Given the description of an element on the screen output the (x, y) to click on. 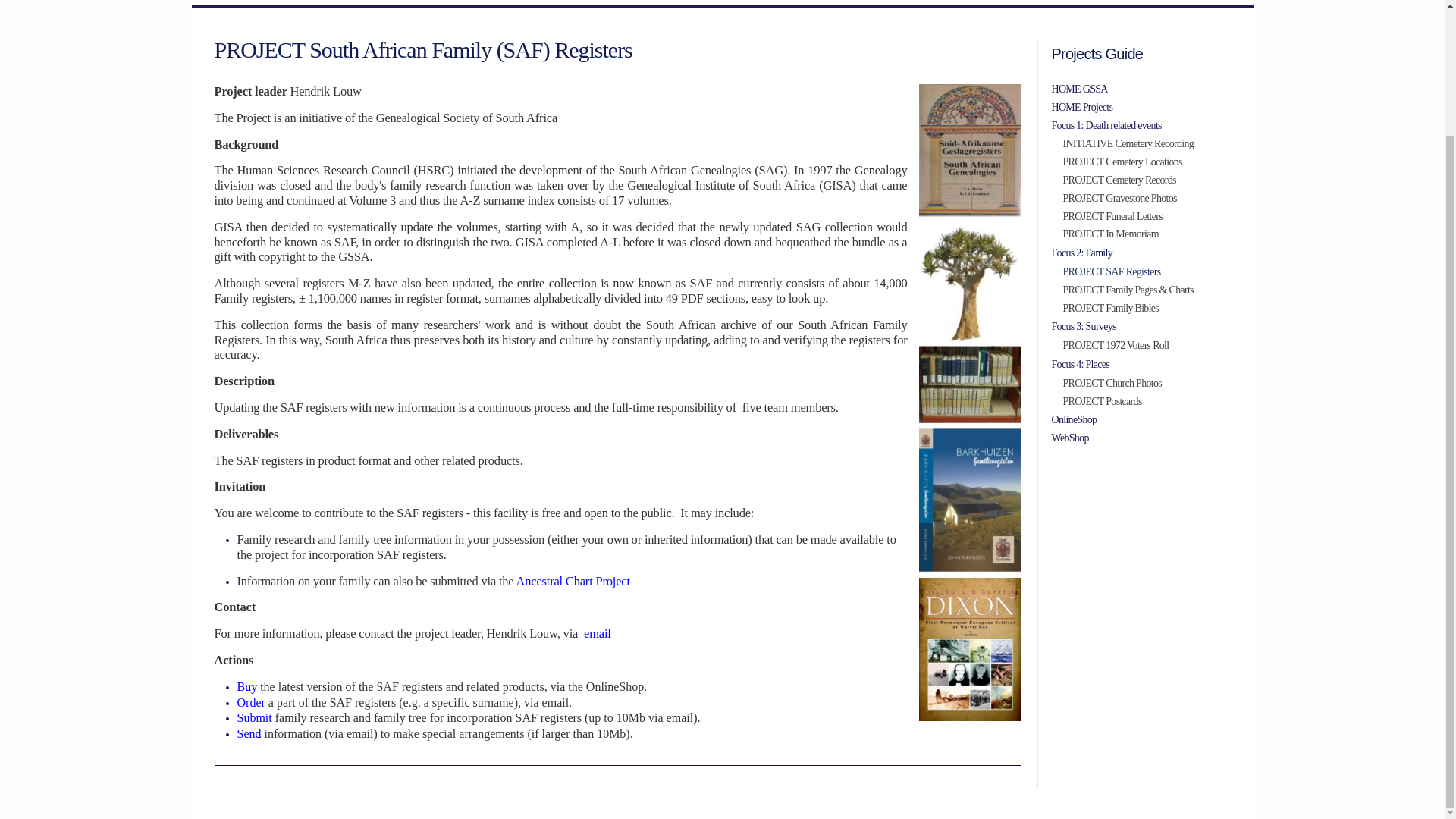
HOME GSSA (1140, 89)
Focus 2: Family (1140, 253)
Vist the Ancestral Chart Project (573, 581)
PROJECT SAF Registers (1146, 271)
HOME Projects (1140, 107)
Send an e-mail to Hendrik Louw (597, 633)
INITIATIVE Cemetery Recording (1146, 144)
Submit (255, 717)
Buy (247, 686)
HOME (315, 2)
MEMBERSHIP (737, 2)
GENEALOGY? (505, 2)
Send (249, 733)
PROJECT Cemetery Locations (1146, 162)
